Given the description of an element on the screen output the (x, y) to click on. 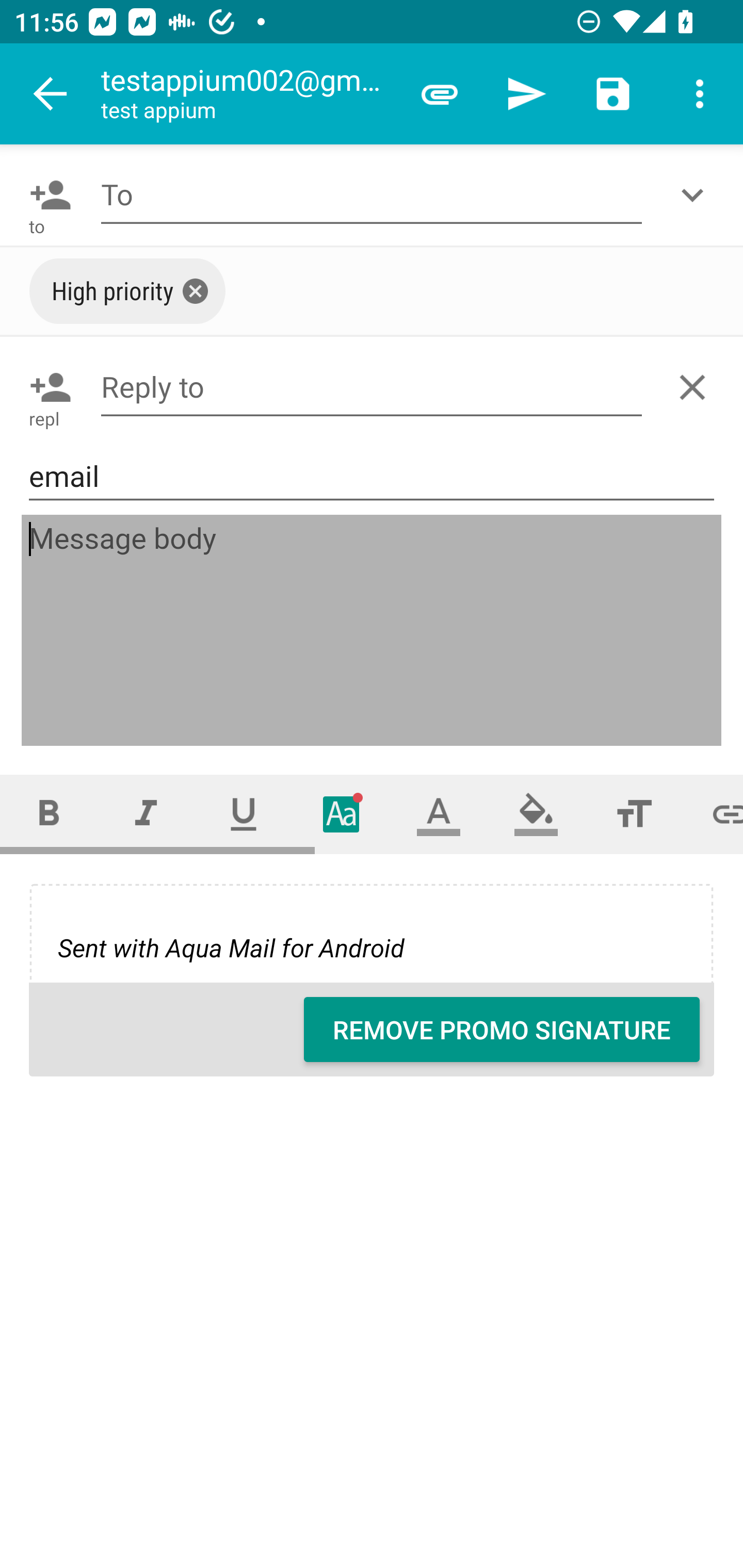
Navigate up (50, 93)
testappium002@gmail.com test appium (248, 93)
Attach (439, 93)
Send (525, 93)
Save (612, 93)
More options (699, 93)
Pick contact: To (46, 195)
Show/Add CC/BCC (696, 195)
To (371, 195)
High priority # (127, 291)
Pick contact: Reply to (46, 387)
Delete (696, 387)
Reply to (371, 387)
email (371, 475)
Message body (372, 631)
Bold (48, 814)
Italic (145, 814)
Underline (243, 814)
Typeface (font) (341, 814)
Text color (438, 814)
Fill color (536, 814)
Font size (633, 814)
Set link (712, 814)
REMOVE PROMO SIGNATURE (501, 1029)
